Given the description of an element on the screen output the (x, y) to click on. 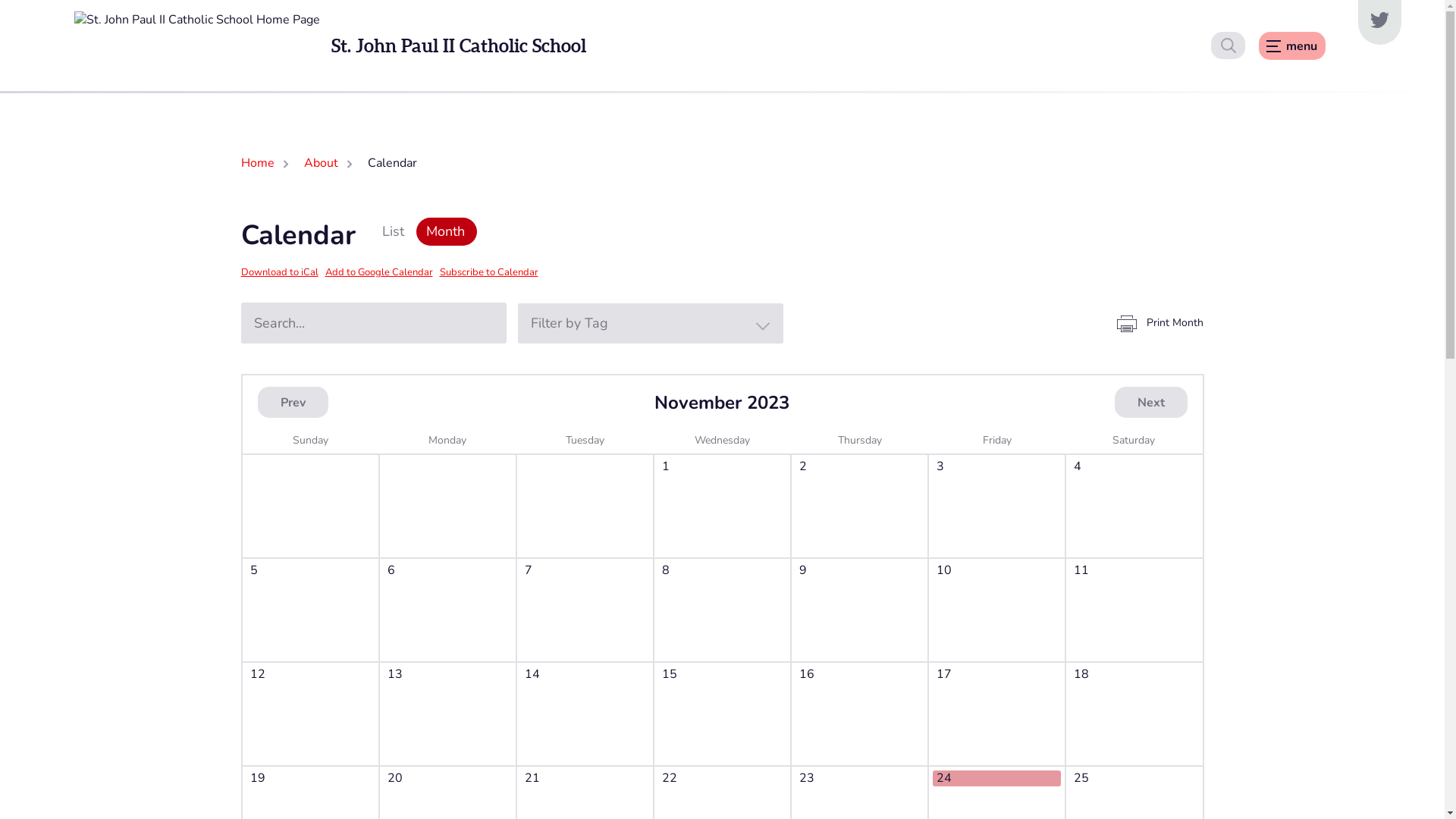
home Element type: hover (197, 45)
Subscribe to Calendar Element type: text (488, 272)
Print Month Element type: text (1159, 322)
About Element type: text (320, 163)
Twitter Element type: text (1378, 22)
Download to iCal Element type: text (279, 272)
Home Element type: text (257, 163)
Next Element type: text (1150, 401)
menu Element type: text (1291, 45)
Add to Google Calendar Element type: text (378, 272)
